Given the description of an element on the screen output the (x, y) to click on. 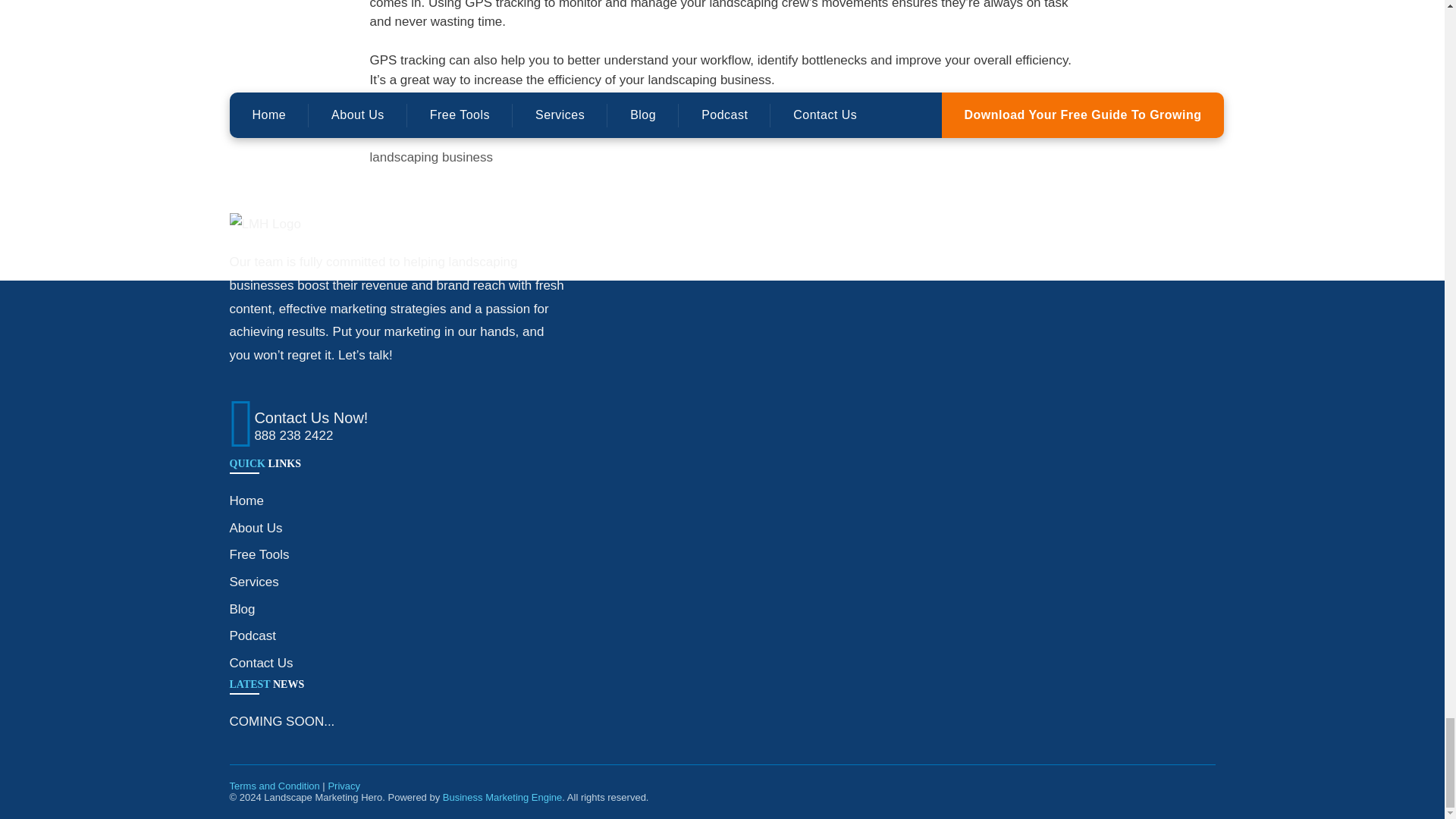
book a call with Landscape Marketing Hero (928, 118)
About Us (255, 527)
landscaping business (431, 156)
Home (245, 500)
888 238 2422 (293, 435)
